Given the description of an element on the screen output the (x, y) to click on. 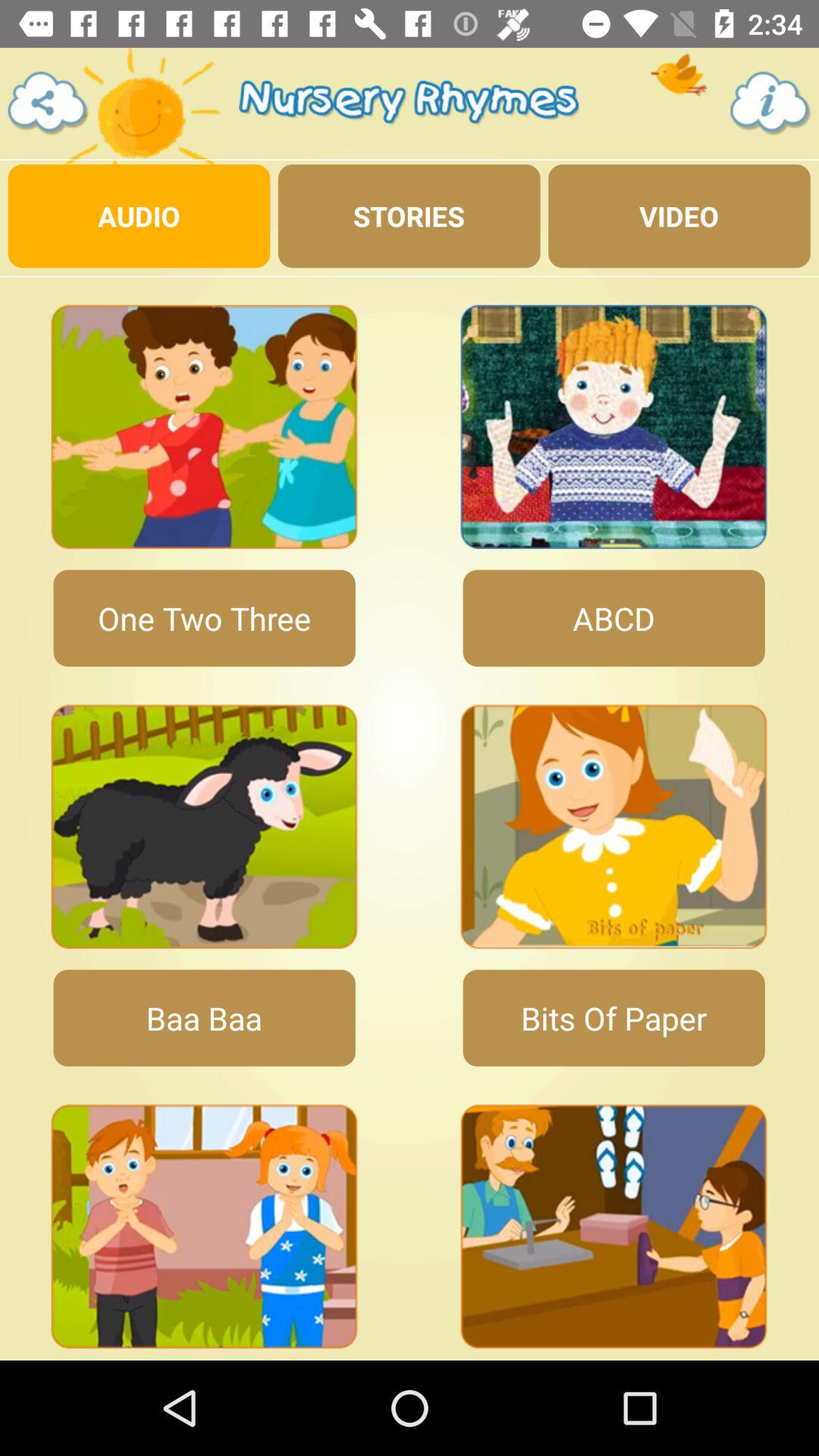
share this (47, 103)
